Given the description of an element on the screen output the (x, y) to click on. 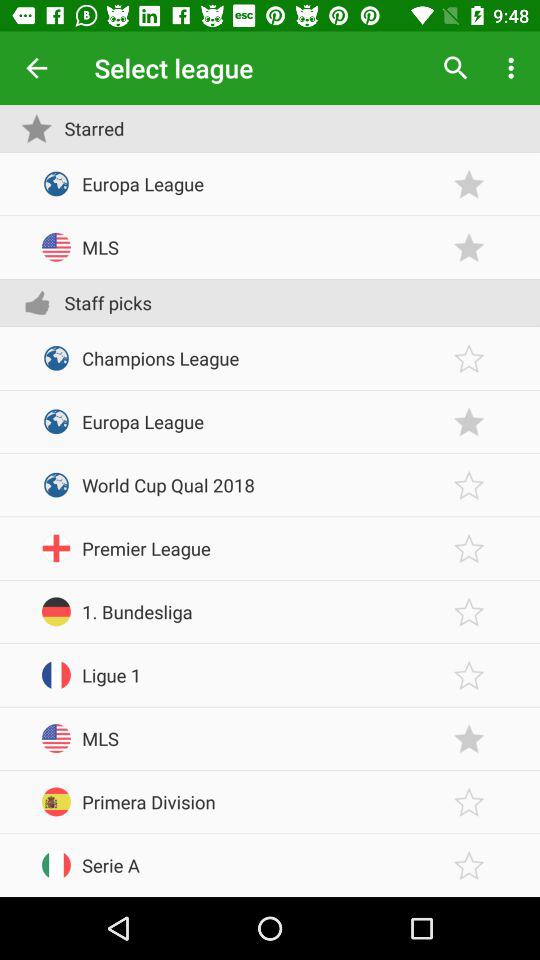
star mls (469, 738)
